Given the description of an element on the screen output the (x, y) to click on. 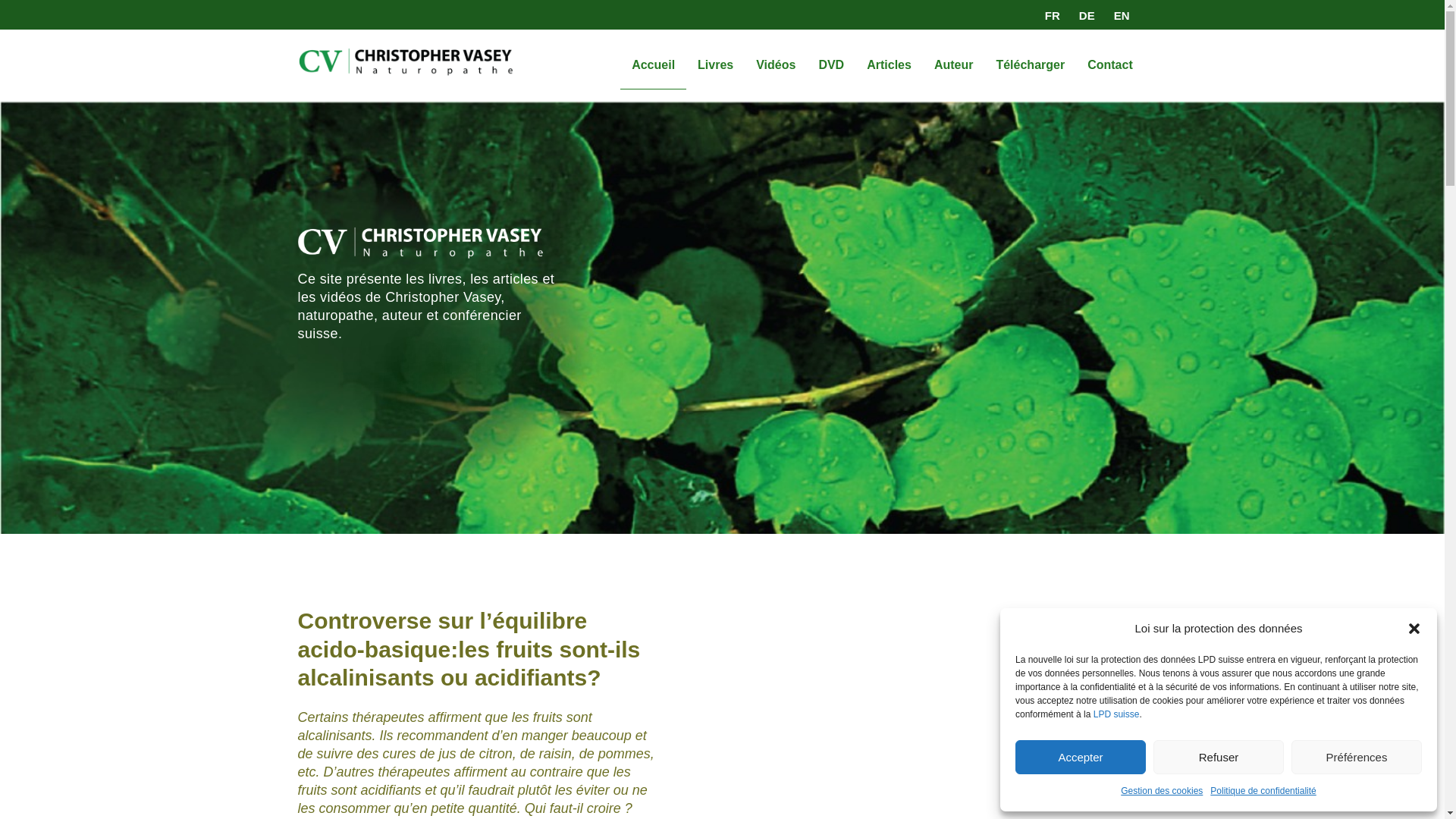
DVD Element type: text (830, 64)
EN Element type: text (1117, 14)
Contact Element type: text (1110, 64)
Livres Element type: text (715, 64)
DE Element type: text (1083, 14)
Accueil Element type: text (653, 64)
FR Element type: text (1048, 14)
Accepter Element type: text (1080, 757)
LPD suisse Element type: text (1116, 714)
Auteur Element type: text (953, 64)
Articles Element type: text (888, 64)
Refuser Element type: text (1218, 757)
Gestion des cookies Element type: text (1161, 790)
